Given the description of an element on the screen output the (x, y) to click on. 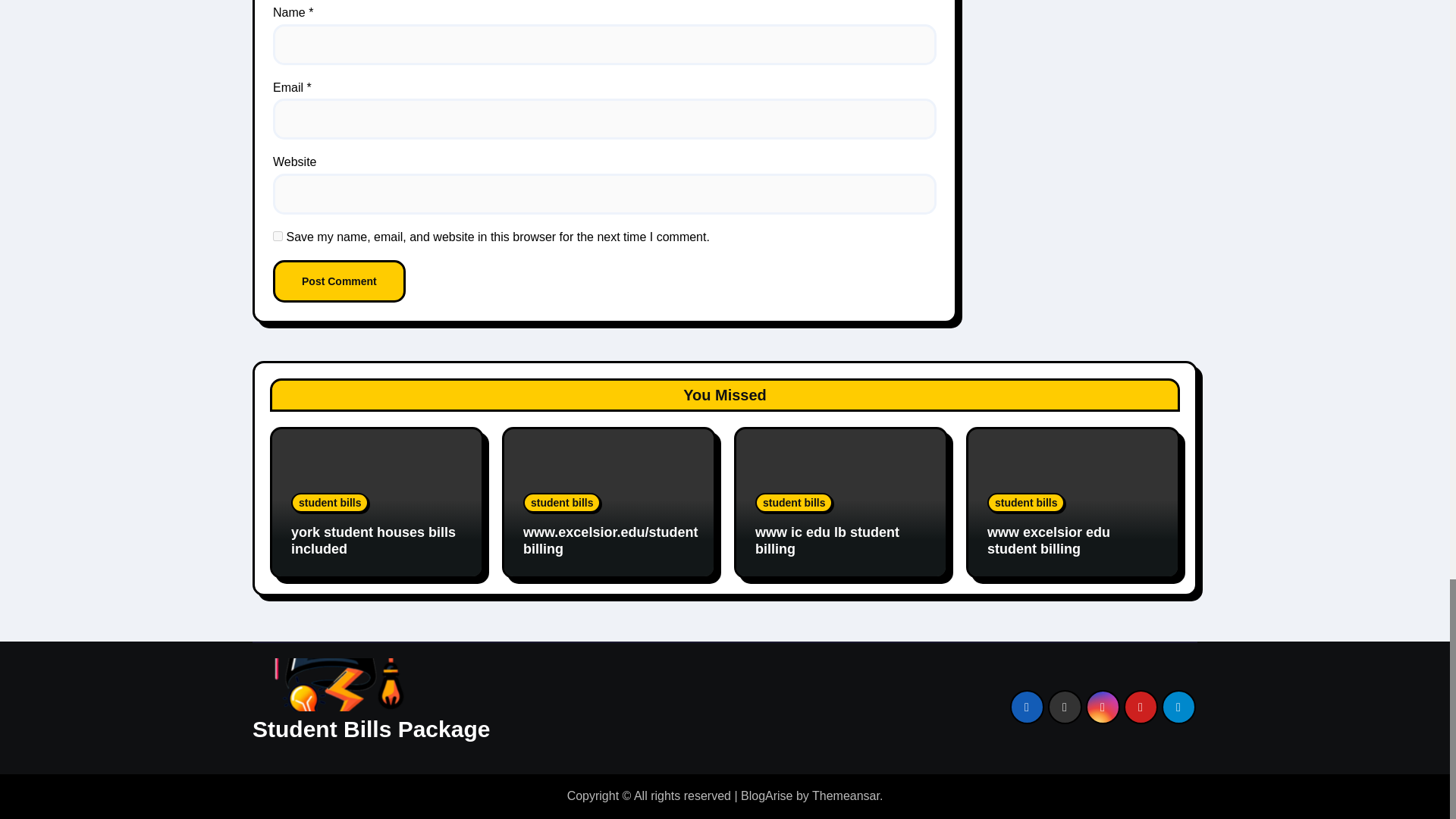
Post Comment (339, 281)
Permalink to: york student houses bills included (373, 540)
yes (277, 235)
Permalink to: www excelsior edu student billing (1048, 540)
Permalink to: www ic edu lb student billing (827, 540)
